Given the description of an element on the screen output the (x, y) to click on. 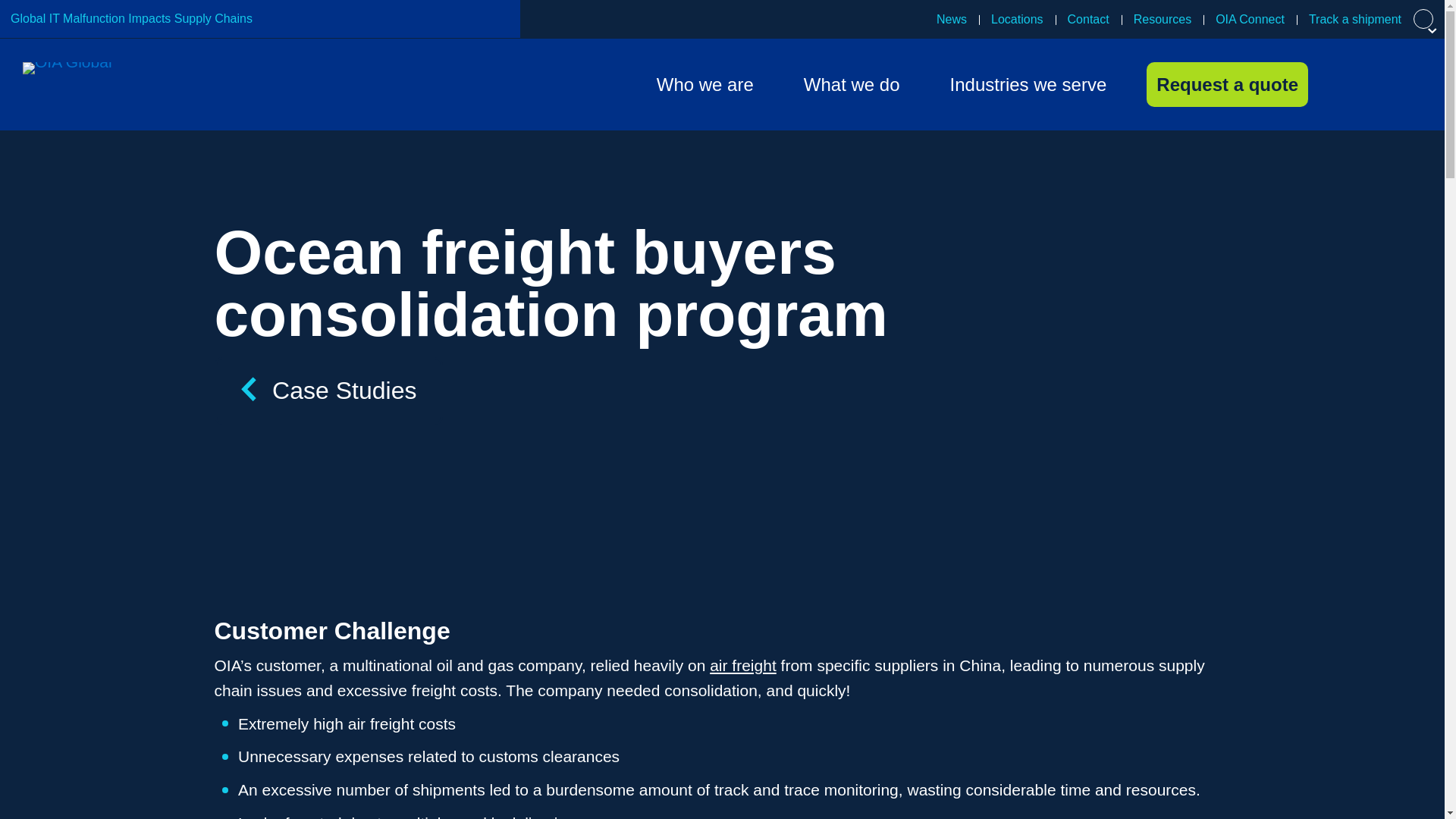
What we do (851, 84)
Resources (1162, 19)
Find (952, 130)
News (951, 19)
Go (956, 185)
Request a quote (1227, 84)
OIA Connect (1250, 19)
Who we are (704, 84)
Locations (1016, 19)
Industries we serve (1028, 84)
Contact (1088, 19)
Track a shipment (1355, 19)
air freight (743, 665)
Case Studies (328, 391)
Global IT Malfunction Impacts Supply Chains (130, 18)
